Given the description of an element on the screen output the (x, y) to click on. 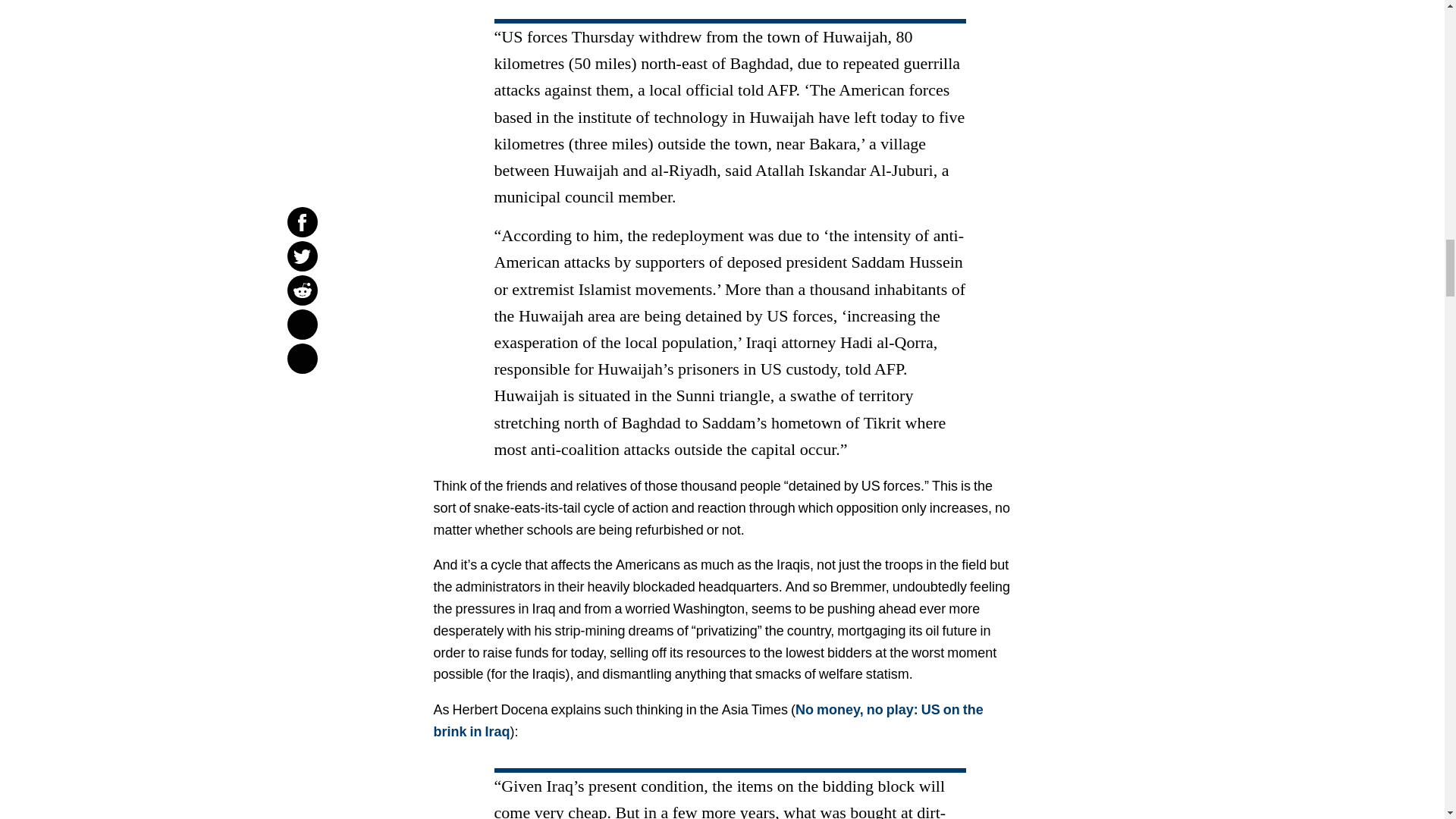
No money, no play: US on the brink in Iraq (708, 721)
